Given the description of an element on the screen output the (x, y) to click on. 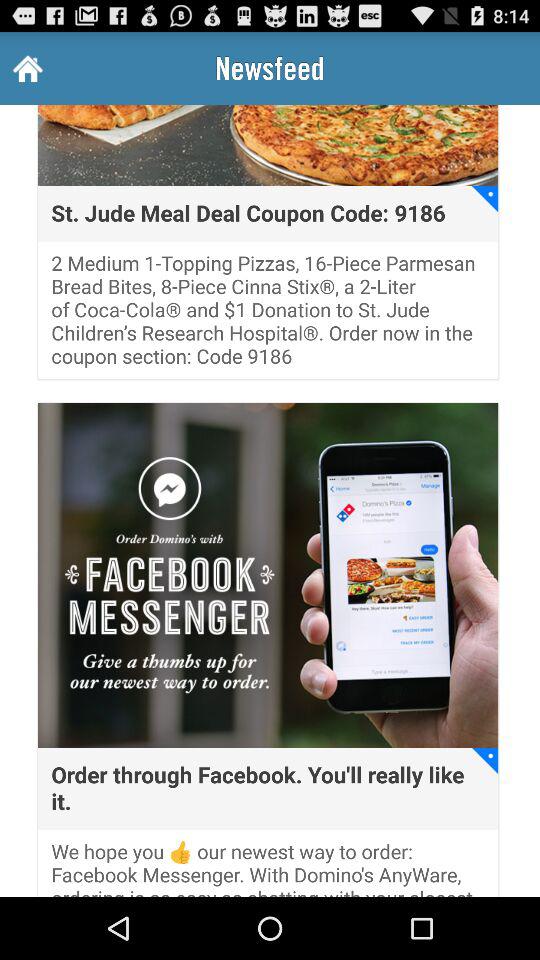
turn off the icon at the bottom right corner (485, 760)
